Given the description of an element on the screen output the (x, y) to click on. 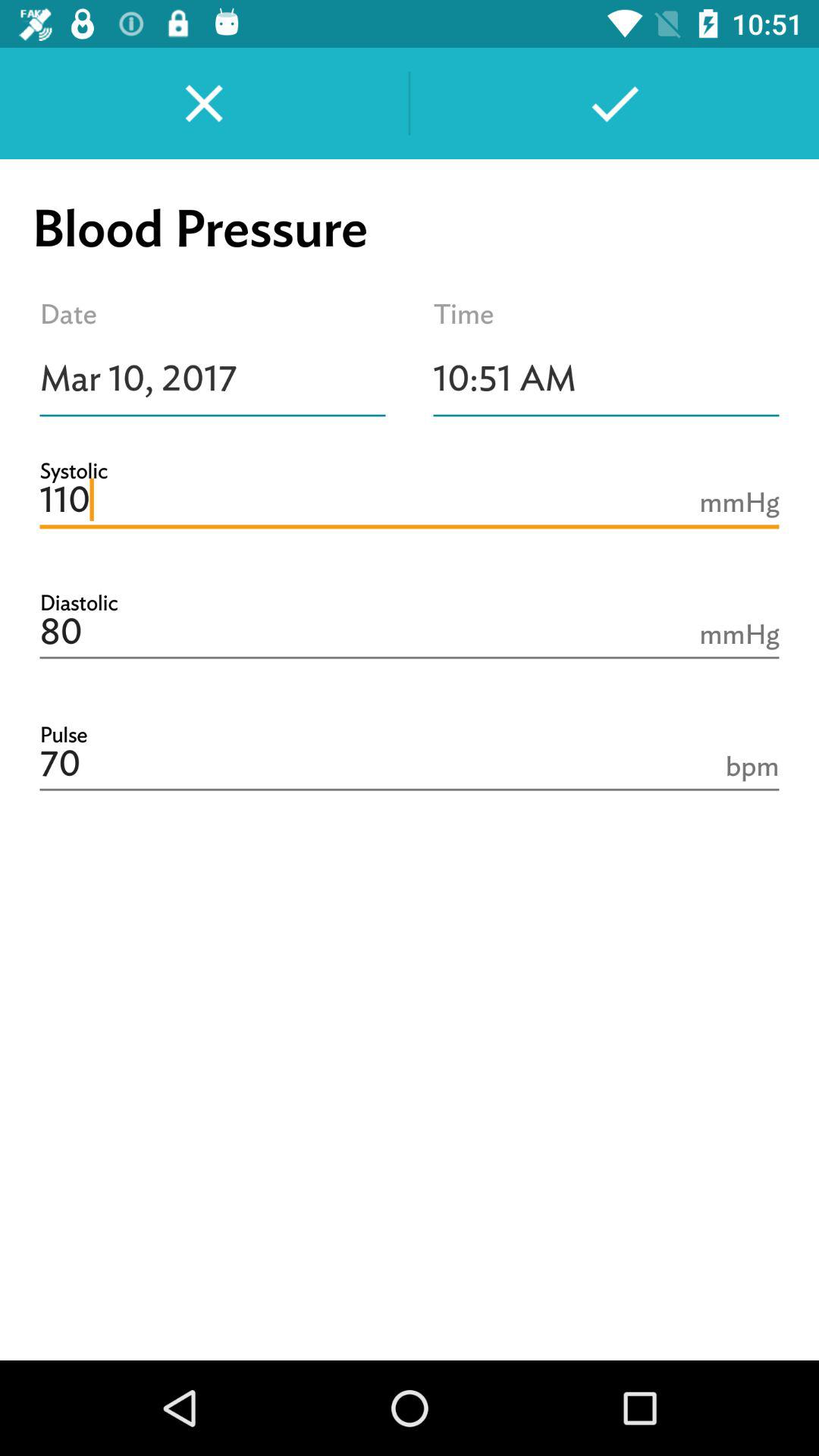
tap icon above 110 (212, 378)
